Given the description of an element on the screen output the (x, y) to click on. 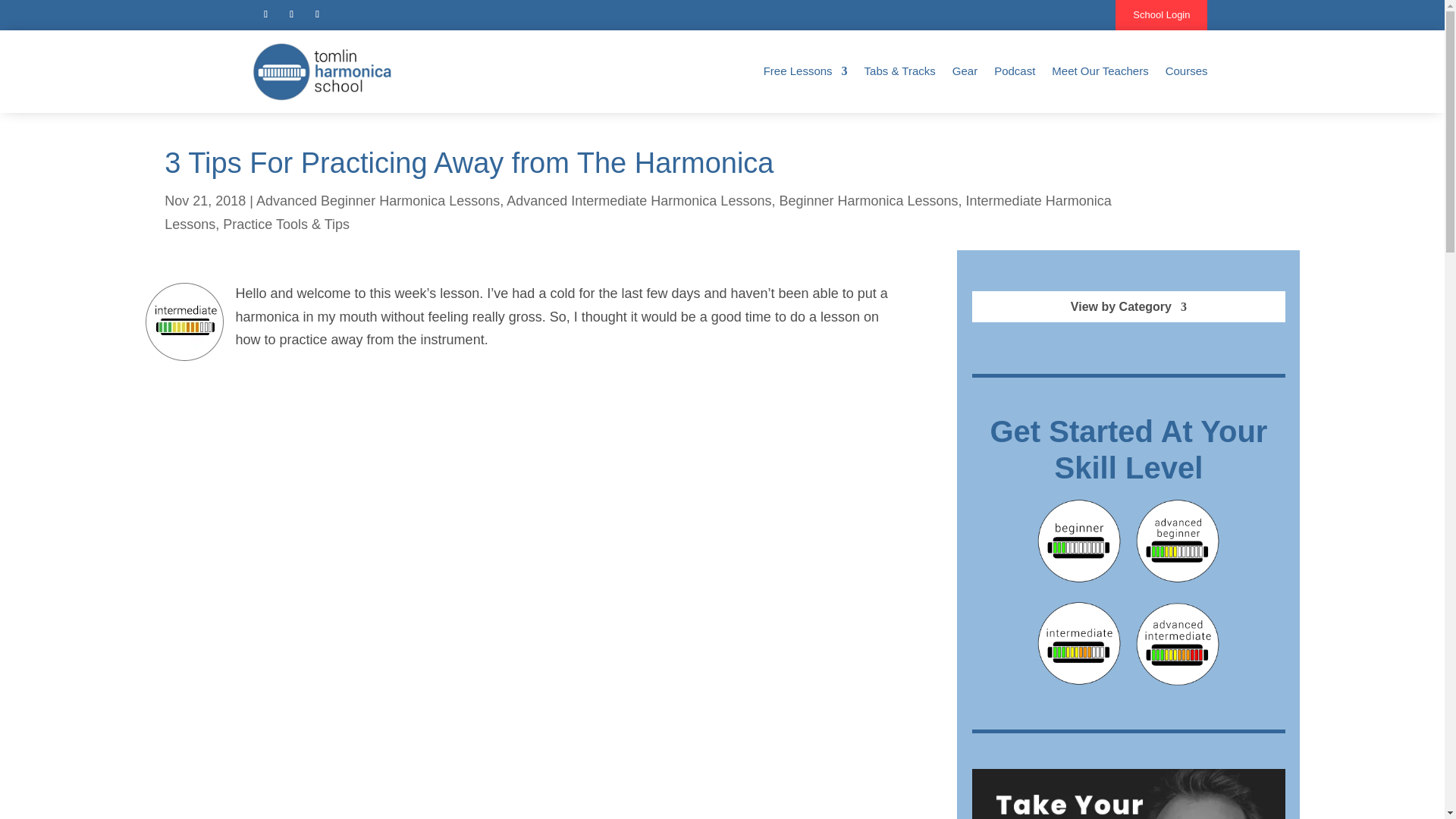
Follow on Instagram (317, 14)
Follow on Facebook (291, 14)
Podcast (1014, 71)
School Login (1161, 15)
Meet Our Teachers (1099, 71)
Follow on Youtube (266, 14)
Gear (964, 71)
Courses (1187, 71)
Free Lessons (804, 71)
harmonica school free trial (1128, 794)
